Given the description of an element on the screen output the (x, y) to click on. 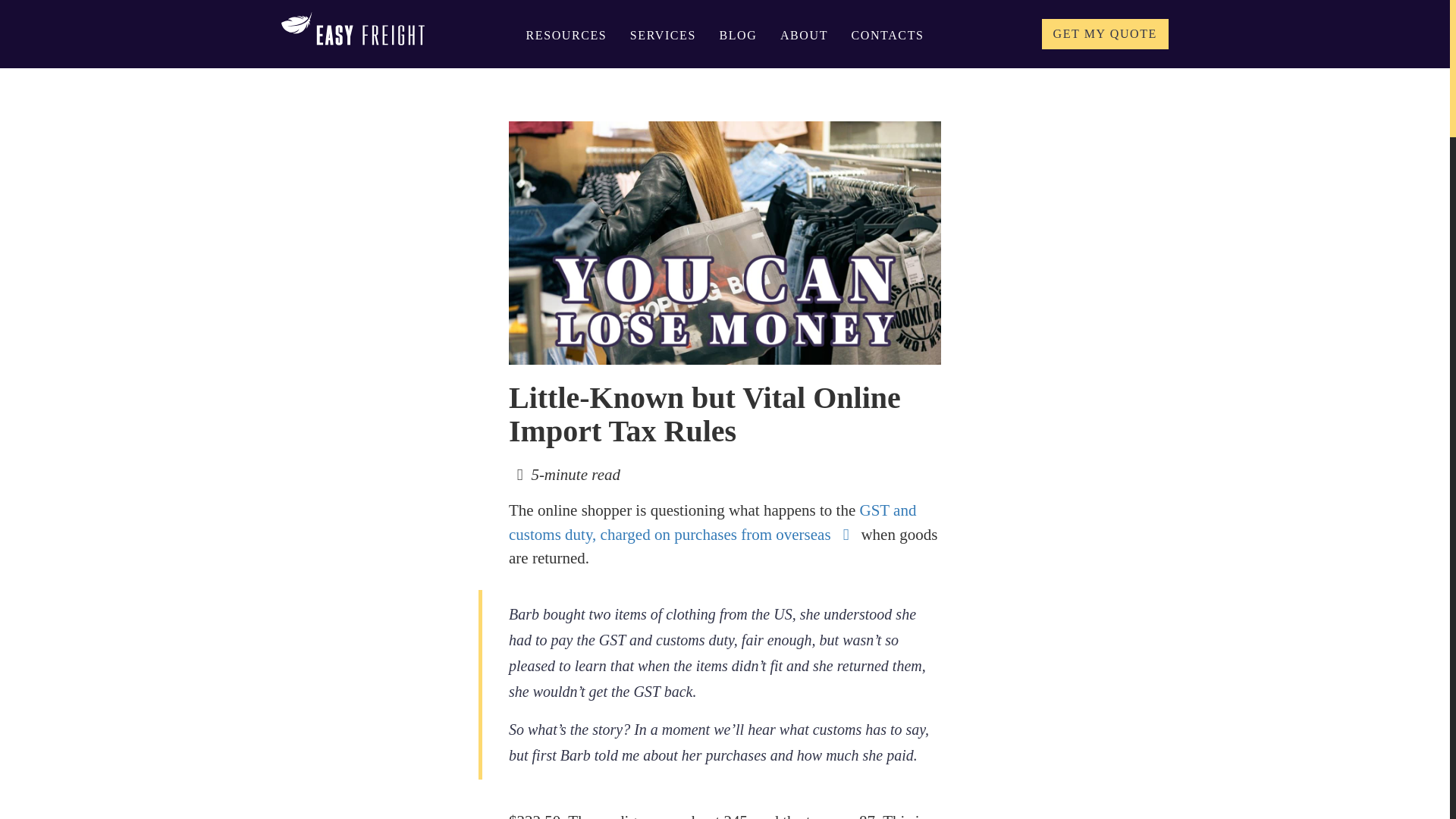
SERVICES (662, 34)
BLOG (738, 34)
GET MY QUOTE (1105, 33)
RESOURCES (566, 34)
ABOUT (804, 34)
GST and customs duty, charged on purchases from overseas (711, 522)
CONTACTS (887, 34)
